Given the description of an element on the screen output the (x, y) to click on. 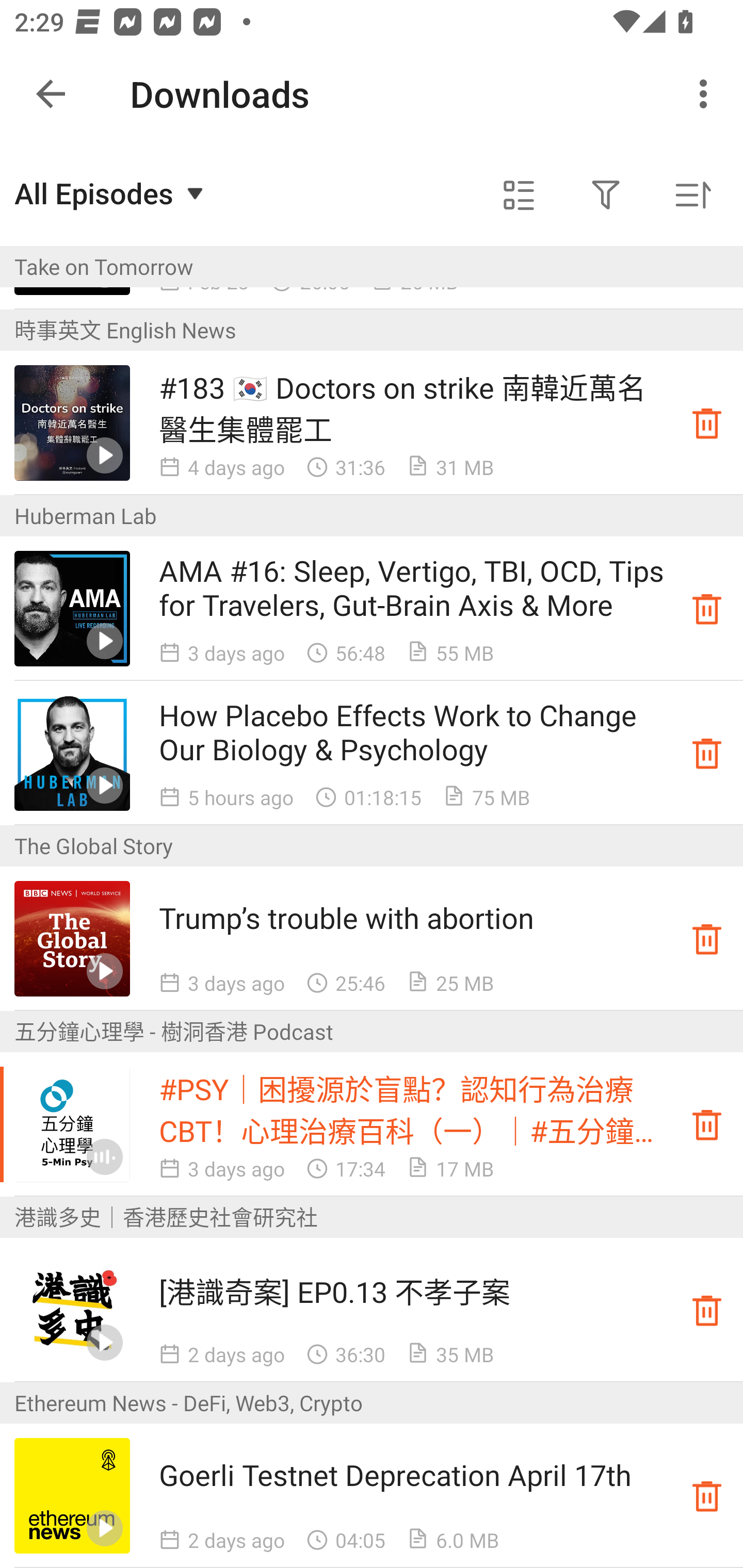
Navigate up (50, 93)
More options (706, 93)
All Episodes (111, 192)
 (518, 195)
 (605, 195)
 Sorted by oldest first (692, 195)
Downloaded (706, 423)
Downloaded (706, 608)
Downloaded (706, 752)
Downloaded (706, 938)
Downloaded (706, 1124)
Downloaded (706, 1309)
Downloaded (706, 1495)
